Given the description of an element on the screen output the (x, y) to click on. 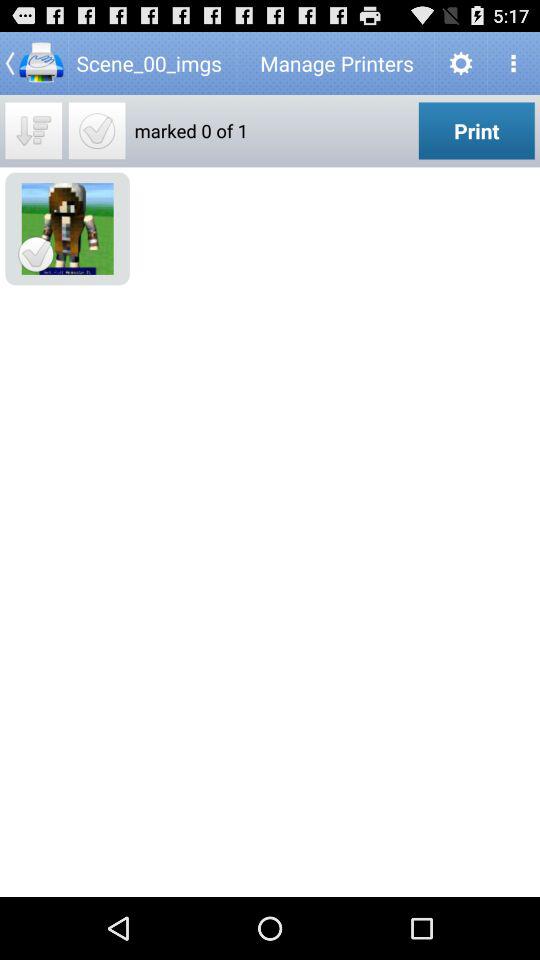
turn on the app next to the marked 0 of (96, 130)
